Given the description of an element on the screen output the (x, y) to click on. 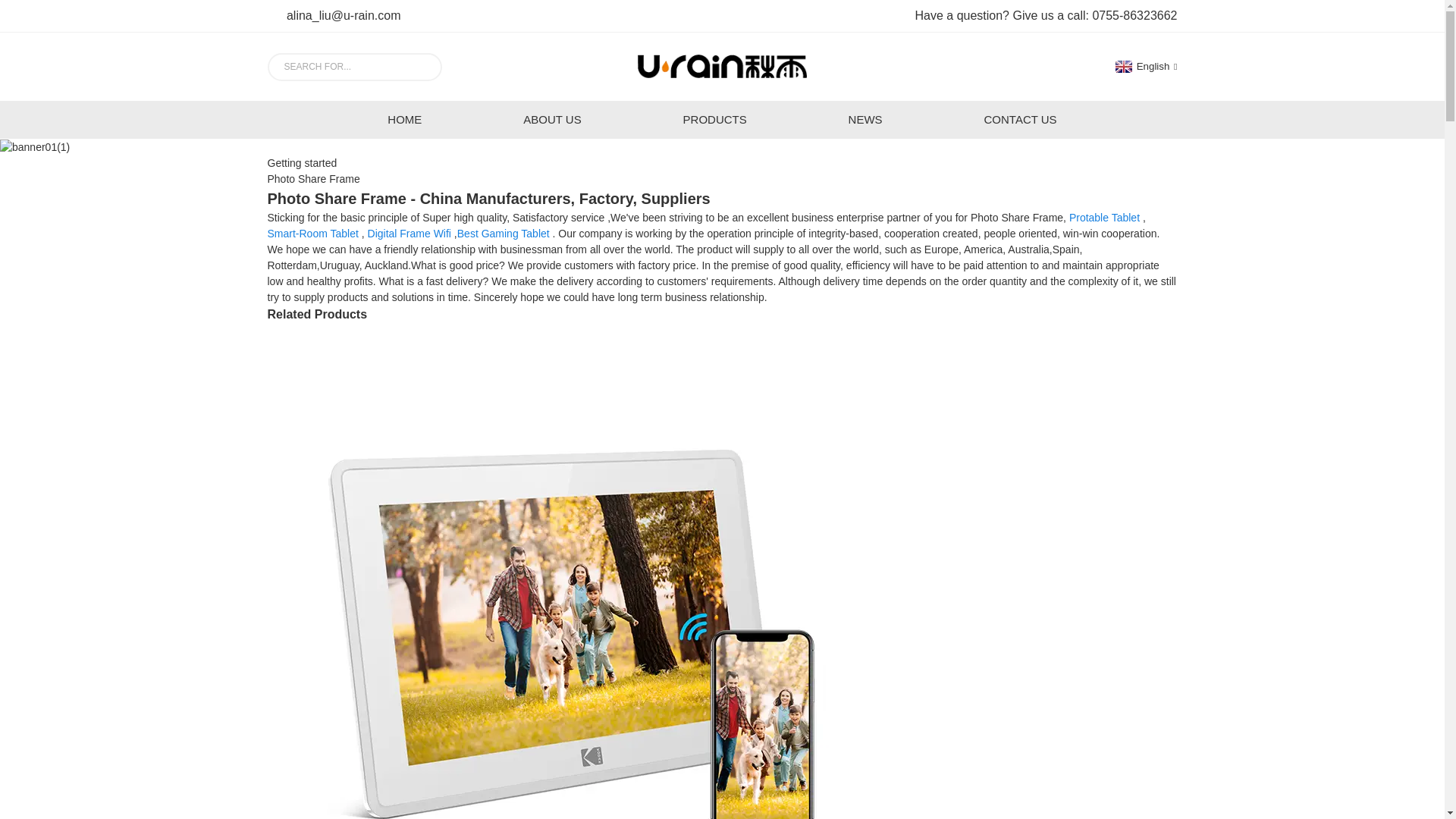
Digital Frame Wifi (409, 233)
0755-86323662 (1134, 15)
English (1144, 66)
PRODUCTS (714, 119)
Protable Tablet (1104, 217)
NEWS (865, 119)
CONTACT US (1019, 119)
Protable Tablet (1104, 217)
HOME (403, 119)
Smart-Room Tablet (312, 233)
